Given the description of an element on the screen output the (x, y) to click on. 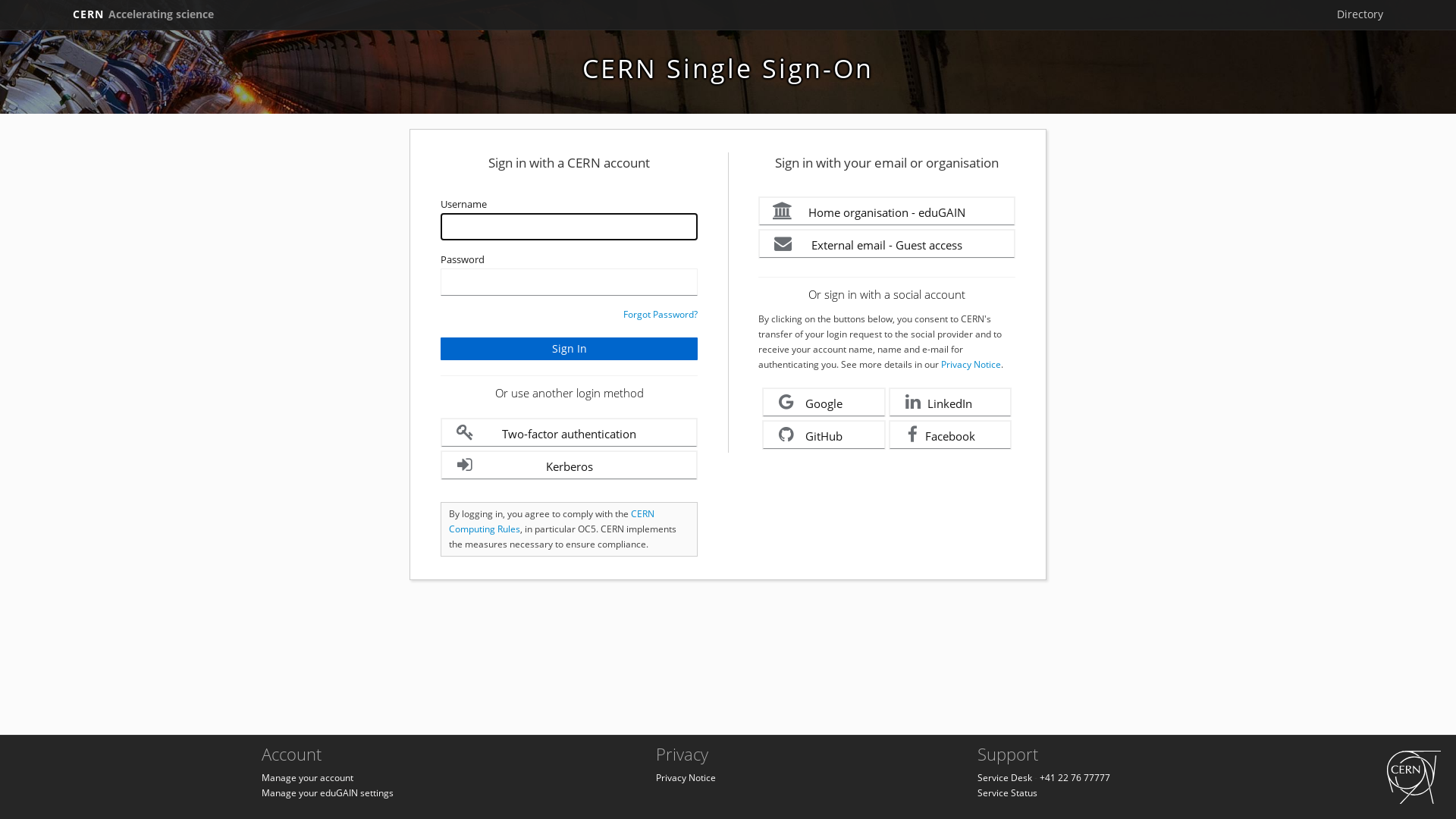
Manage your account Element type: text (307, 777)
External email - Guest access Element type: text (886, 243)
Home organisation - eduGAIN Element type: text (886, 210)
Service Status Element type: text (1007, 792)
Sign In Element type: text (568, 348)
Facebook Element type: text (950, 434)
Privacy Notice Element type: text (685, 777)
Google Element type: text (823, 402)
+41 22 76 77777 Element type: text (1074, 777)
Directory Element type: text (1359, 14)
Service Desk Element type: text (1004, 777)
LinkedIn Element type: text (950, 402)
Manage your eduGAIN settings Element type: text (327, 792)
Two-factor authentication Element type: text (568, 432)
CERN Accelerating science Element type: text (142, 14)
GitHub Element type: text (823, 434)
CERN Computing Rules Element type: text (551, 521)
Forgot Password? Element type: text (660, 313)
Kerberos Element type: text (568, 465)
Privacy Notice Element type: text (971, 363)
